Given the description of an element on the screen output the (x, y) to click on. 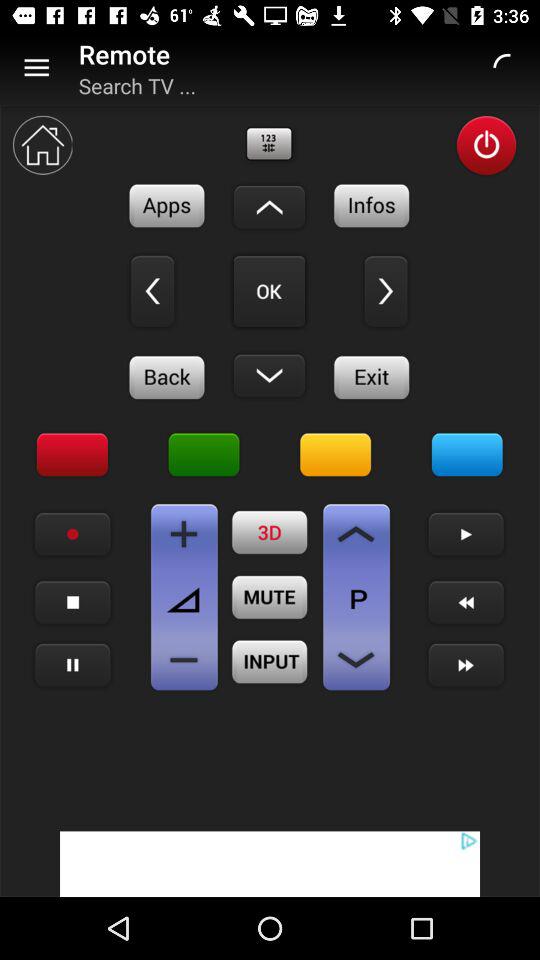
pause (72, 665)
